Given the description of an element on the screen output the (x, y) to click on. 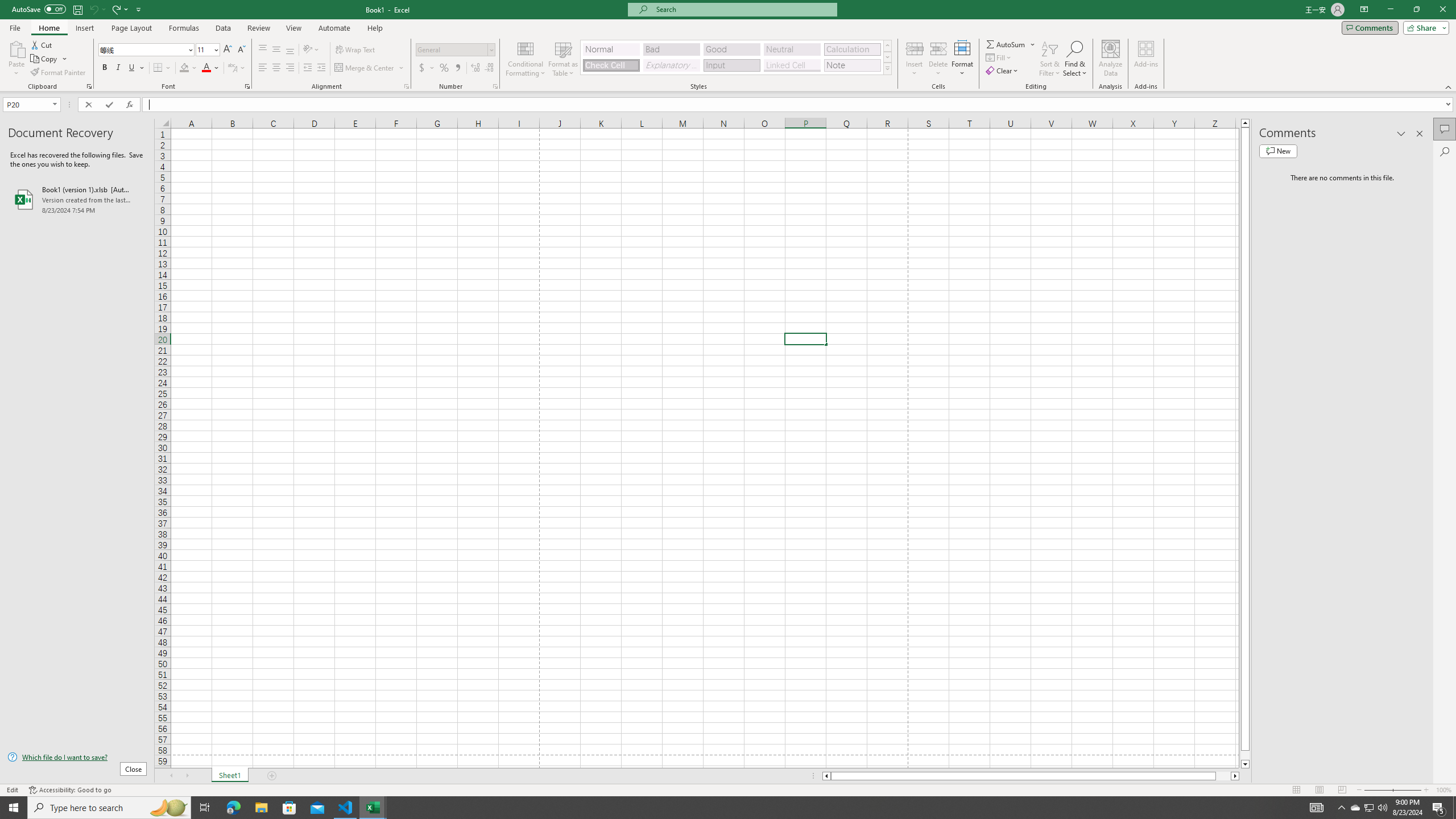
Paste (16, 48)
Good (731, 49)
Delete Cells... (938, 48)
Merge & Center (369, 67)
Bold (104, 67)
Number Format (451, 49)
